Given the description of an element on the screen output the (x, y) to click on. 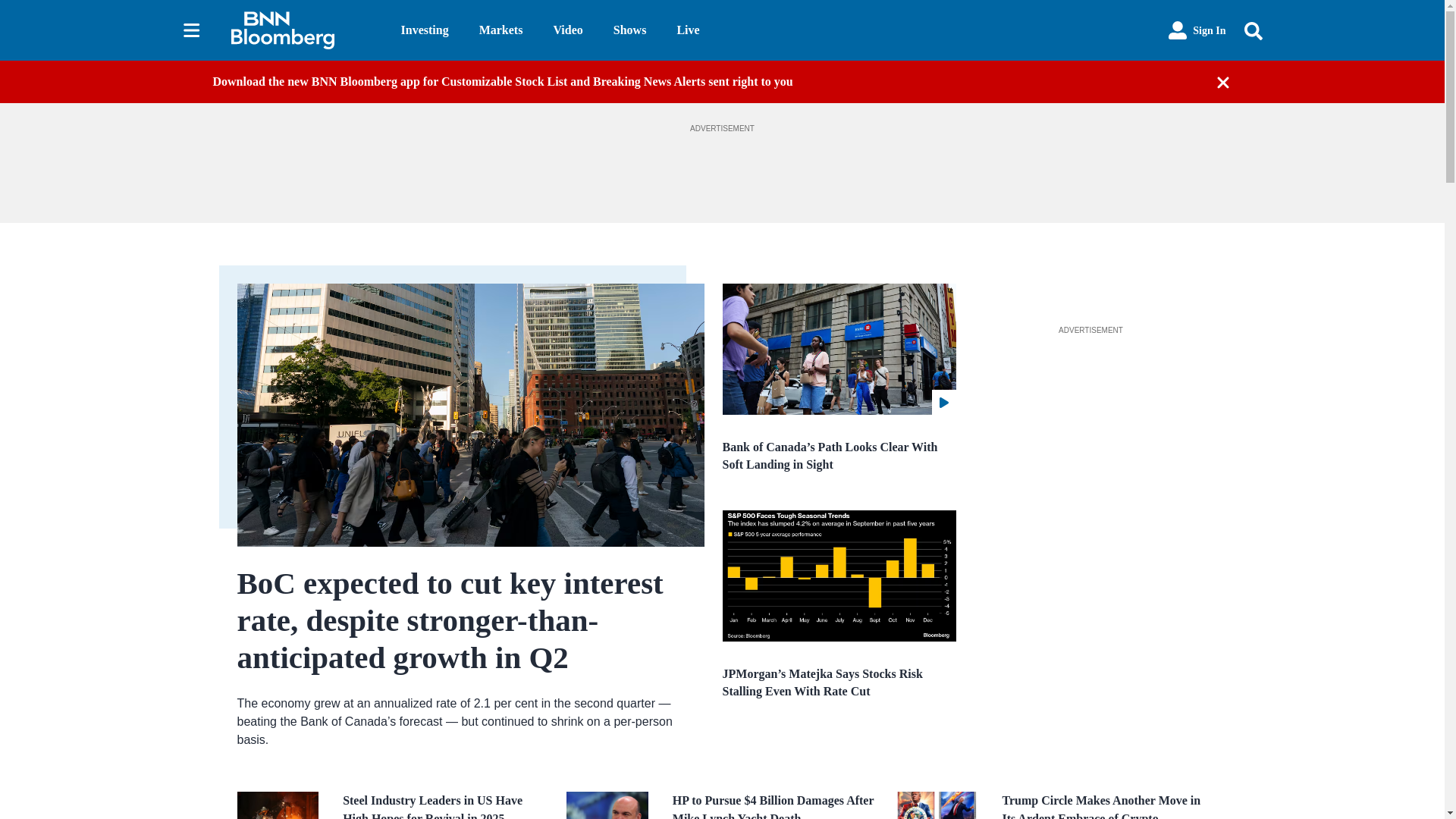
Sign In (1196, 30)
Sections (191, 30)
Markets (500, 30)
Investing (424, 30)
Shows (629, 30)
Live (687, 30)
Video (567, 30)
BNN Bloomberg (302, 30)
